Given the description of an element on the screen output the (x, y) to click on. 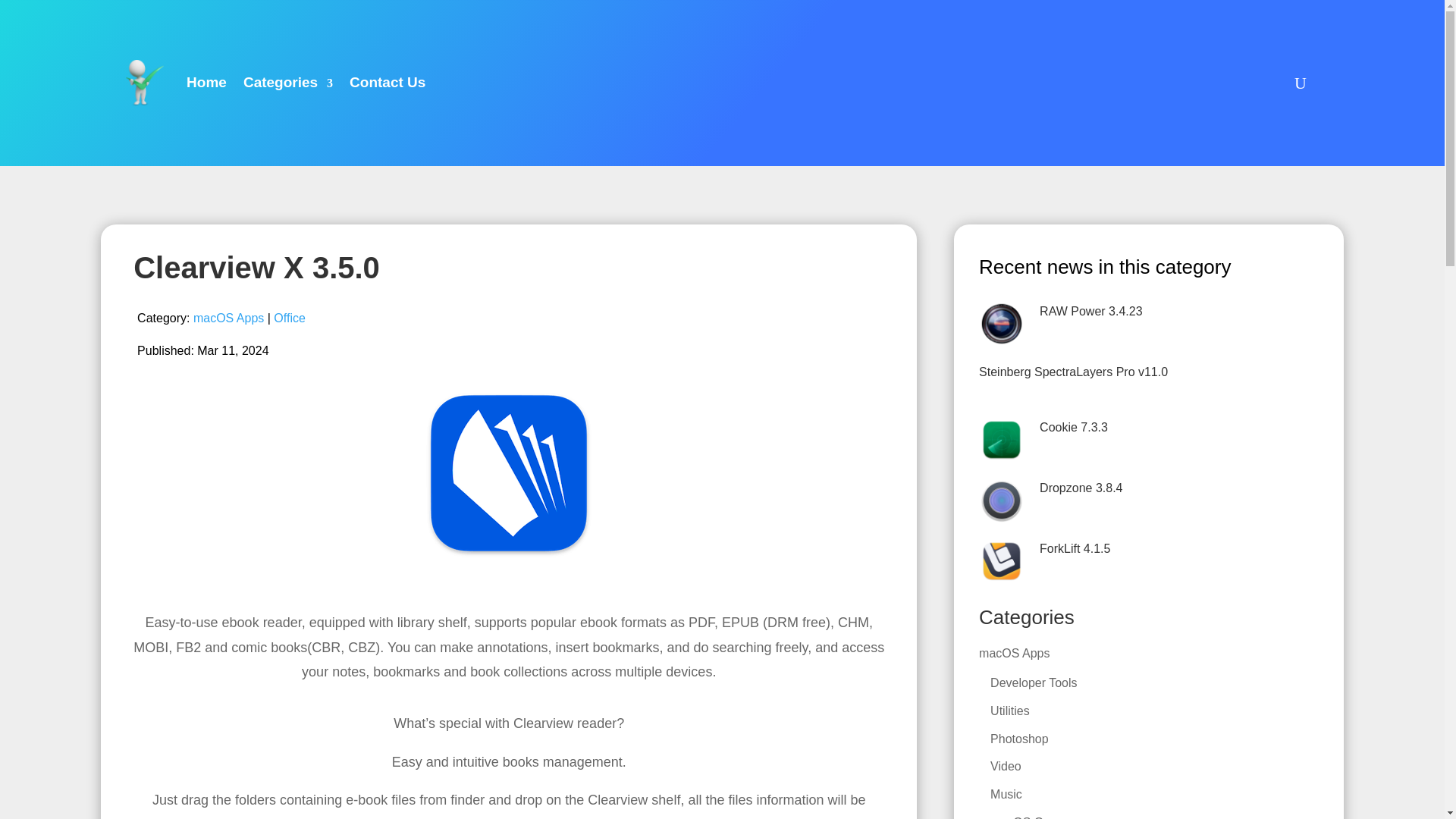
Office (289, 318)
RAW Power 3.4.23 (1090, 310)
macOS Apps (228, 318)
Contact Us (387, 83)
Categories (288, 83)
Steinberg SpectraLayers Pro v11.0 (1072, 371)
